Given the description of an element on the screen output the (x, y) to click on. 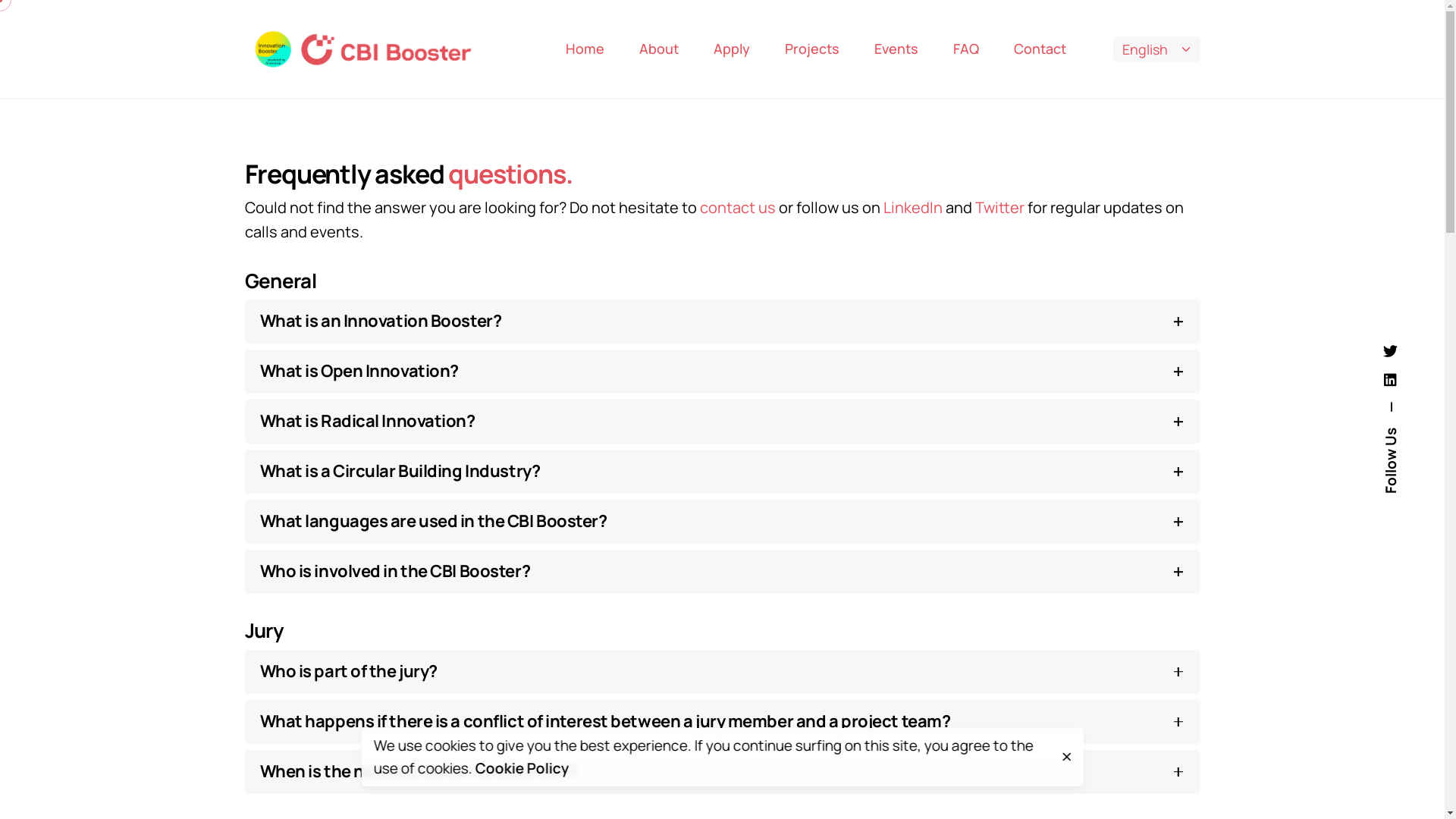
Events Element type: text (895, 48)
Home Element type: text (584, 48)
Apply Element type: text (731, 48)
Contact Element type: text (1039, 48)
FAQ Element type: text (965, 48)
contact us Element type: text (737, 207)
LinkedIn Element type: text (913, 207)
Projects Element type: text (811, 48)
Cookie Policy Element type: text (520, 768)
About Element type: text (658, 48)
Twitter Element type: text (999, 207)
